Given the description of an element on the screen output the (x, y) to click on. 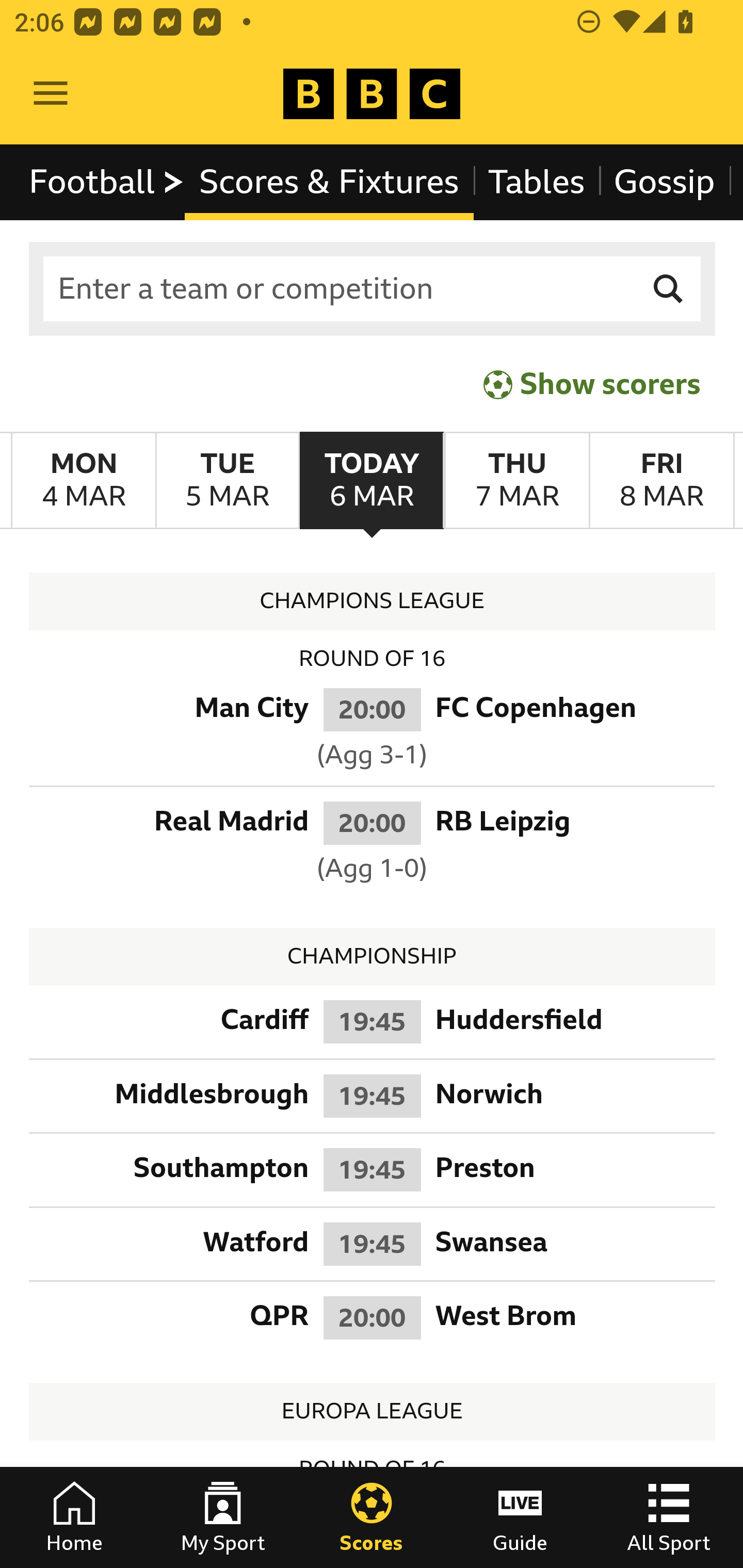
Open Menu (50, 93)
Football  (106, 181)
Scores & Fixtures (329, 181)
Tables (536, 181)
Gossip (664, 181)
Search (669, 289)
Show scorers (591, 383)
MondayMarch 4th Monday March 4th (83, 480)
TuesdayMarch 5th Tuesday March 5th (227, 480)
ThursdayMarch 7th Thursday March 7th (516, 480)
FridayMarch 8th Friday March 8th (661, 480)
Home (74, 1517)
My Sport (222, 1517)
Guide (519, 1517)
All Sport (668, 1517)
